Given the description of an element on the screen output the (x, y) to click on. 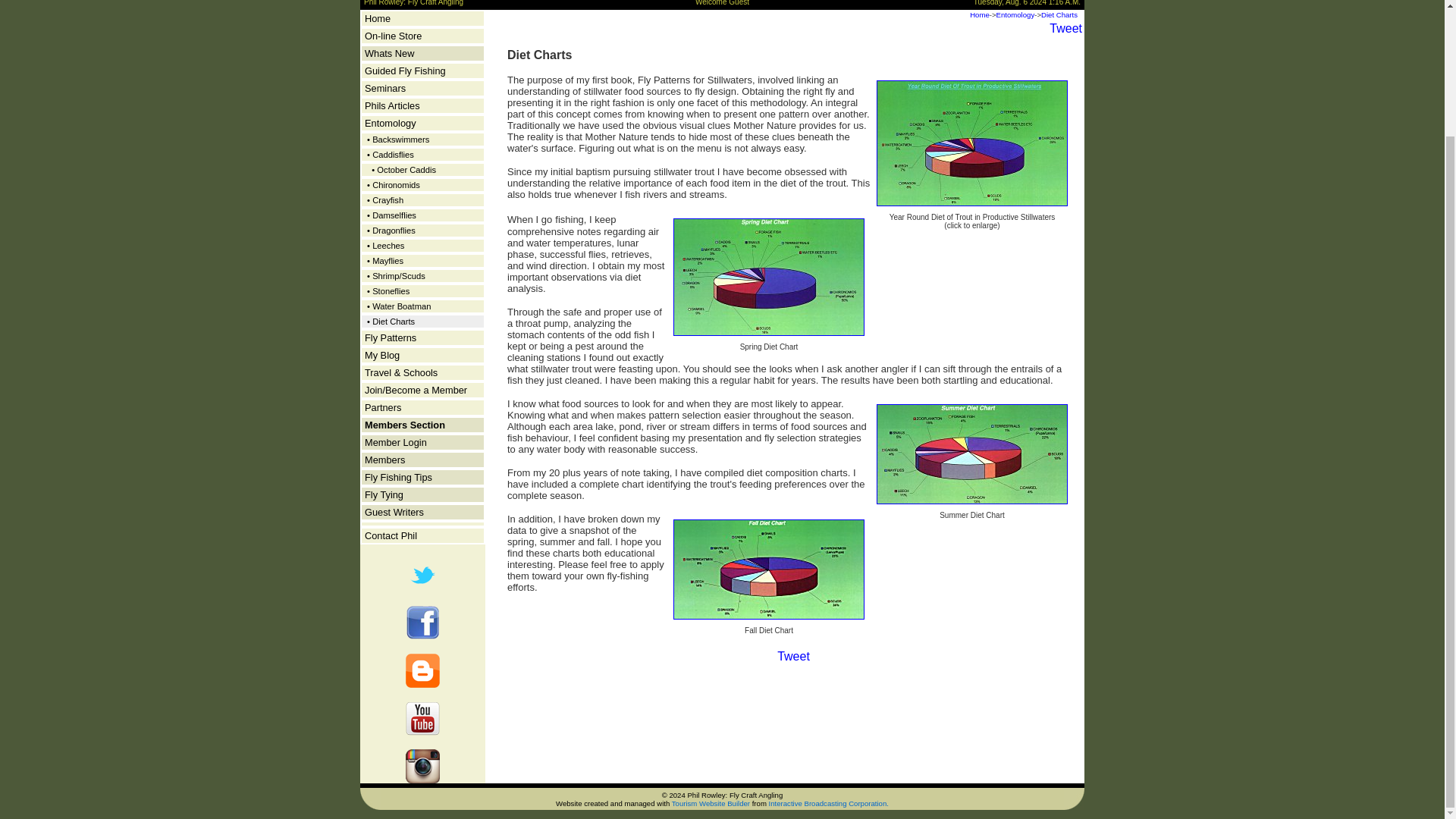
Seminars (385, 88)
Guided Fly Fishing (405, 70)
Entomology (390, 122)
Home (377, 18)
Diet Charts (1059, 14)
Fly Tying (384, 494)
Contact Phil (390, 535)
Fly Fishing Tips (398, 477)
Members (384, 460)
Member Login (395, 441)
Fly Patterns (390, 337)
Partners (383, 407)
Whats New (389, 52)
Tweet (1065, 28)
Guest Writers (394, 511)
